Given the description of an element on the screen output the (x, y) to click on. 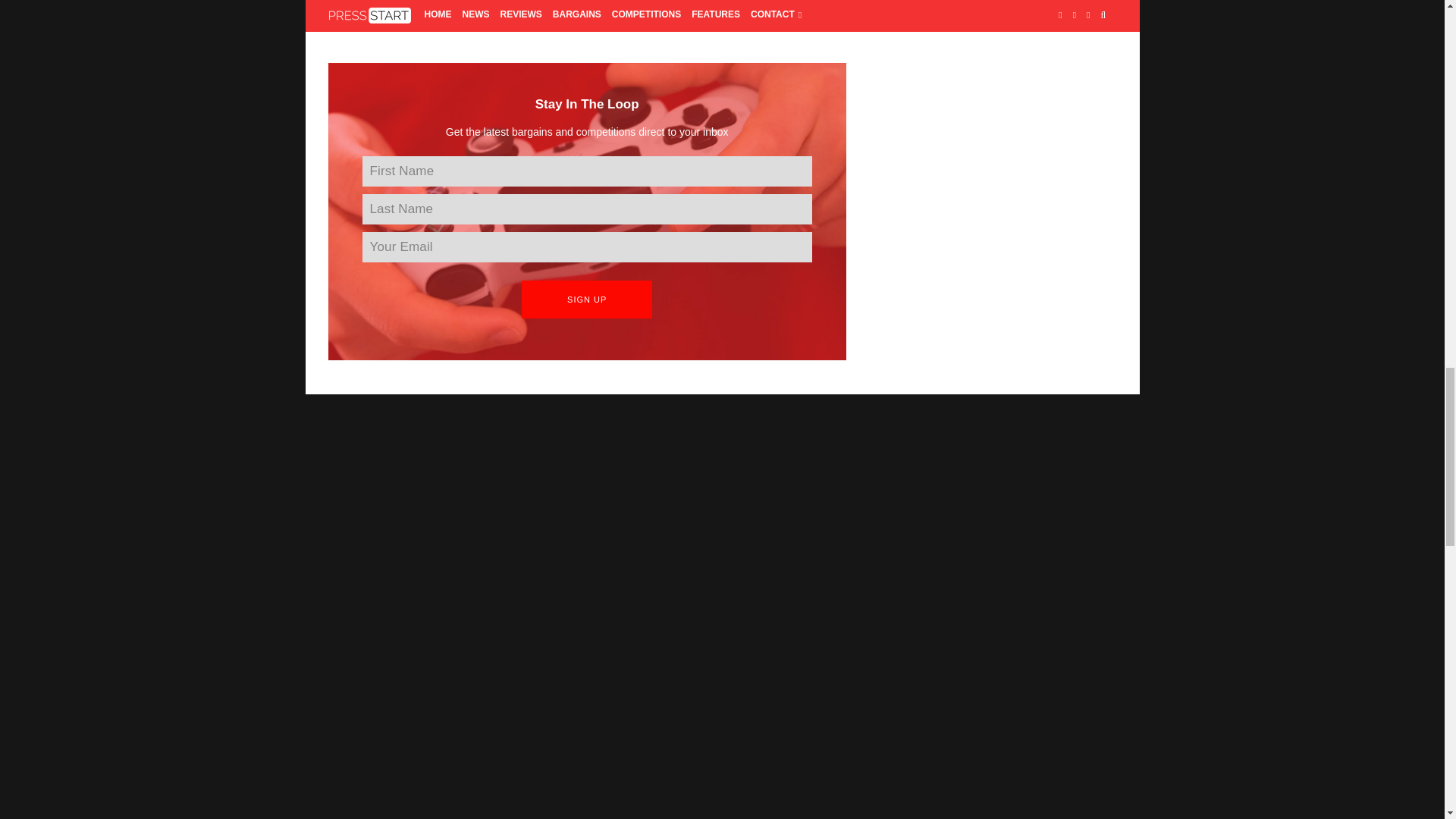
Sign Up (586, 299)
